Given the description of an element on the screen output the (x, y) to click on. 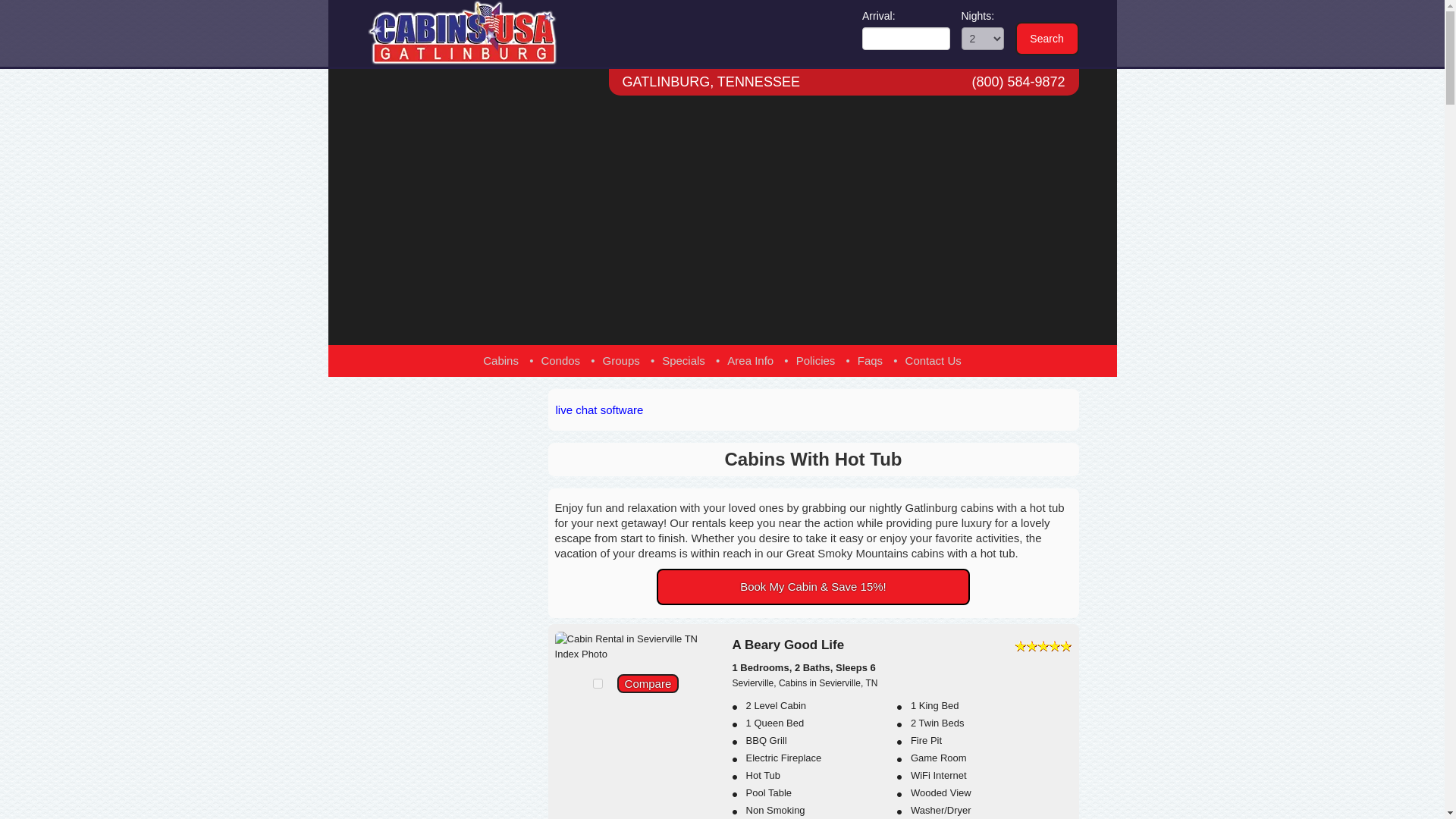
live chat software (598, 409)
Smoky Mountains Area Information (749, 359)
Cabin Reservation Policies (815, 359)
Cabin Rental Specials (683, 359)
Toll Free Telephone Number (1017, 81)
Smoky Mountain Cabins (500, 359)
Frequently Asked Questions (869, 359)
Cabin Rental in Sevierville TN Details (635, 645)
Cabins (500, 359)
Earn a Discount on your cabin! (812, 586)
Compare Properties (648, 683)
Policies (815, 359)
Groups (621, 359)
Cabins USA Gatlinburg (486, 31)
Reserve Multiple Cabins (621, 359)
